Given the description of an element on the screen output the (x, y) to click on. 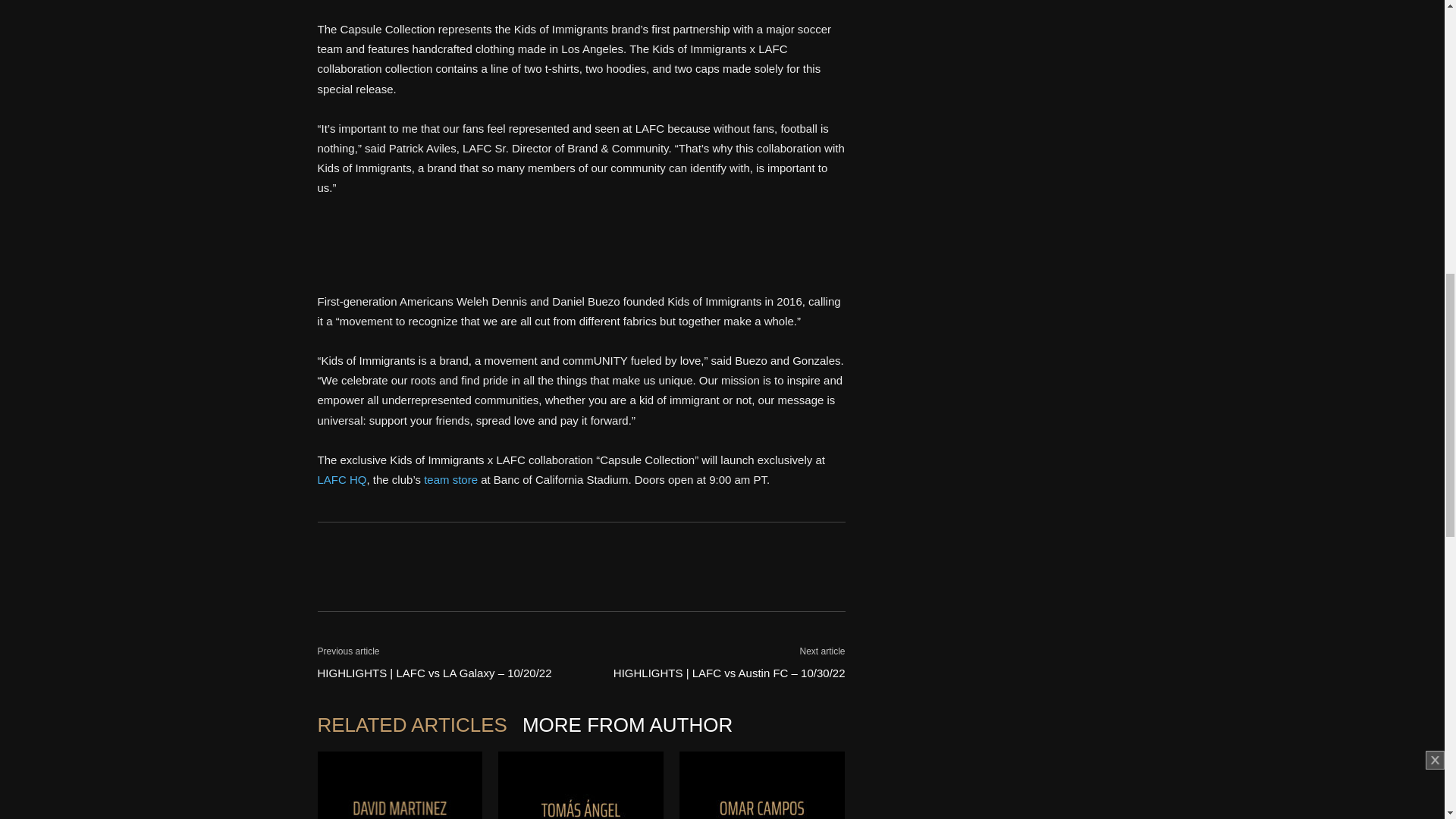
team store (450, 479)
LAFC HQ (341, 479)
RELATED ARTICLES (419, 725)
